Given the description of an element on the screen output the (x, y) to click on. 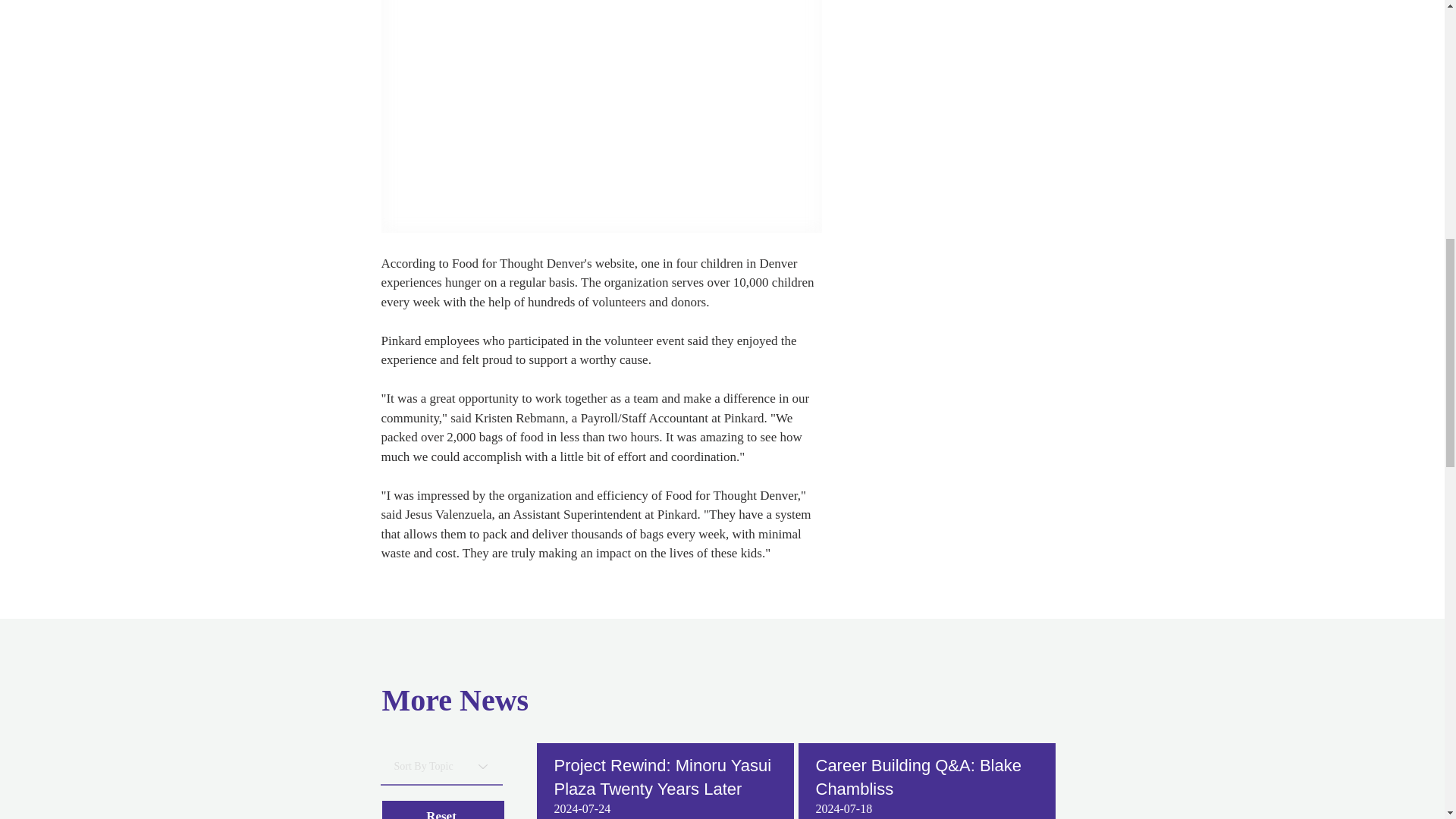
Reset (442, 809)
